Given the description of an element on the screen output the (x, y) to click on. 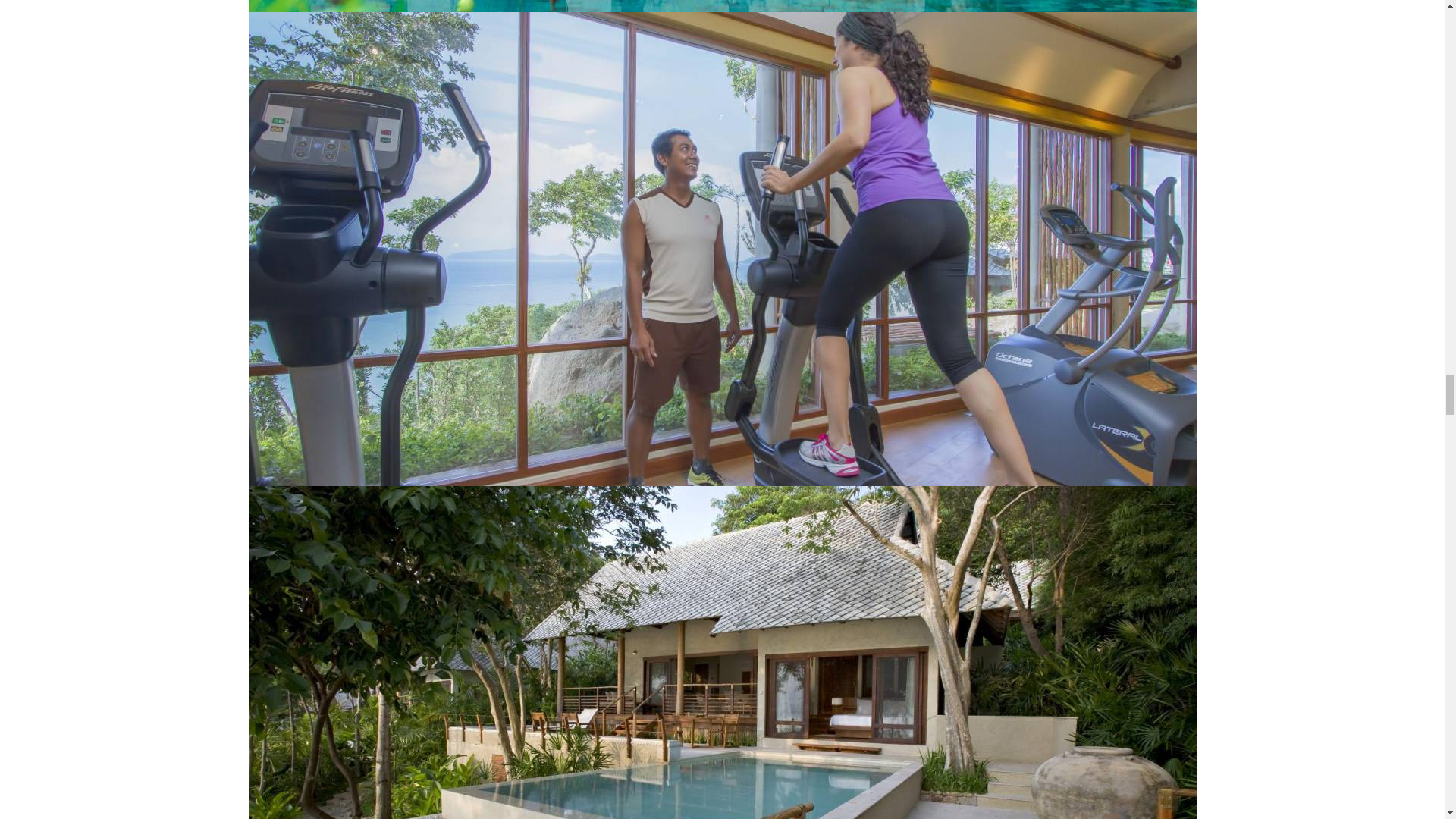
Kamalaya Wellness Sanctuary (722, 6)
